Given the description of an element on the screen output the (x, y) to click on. 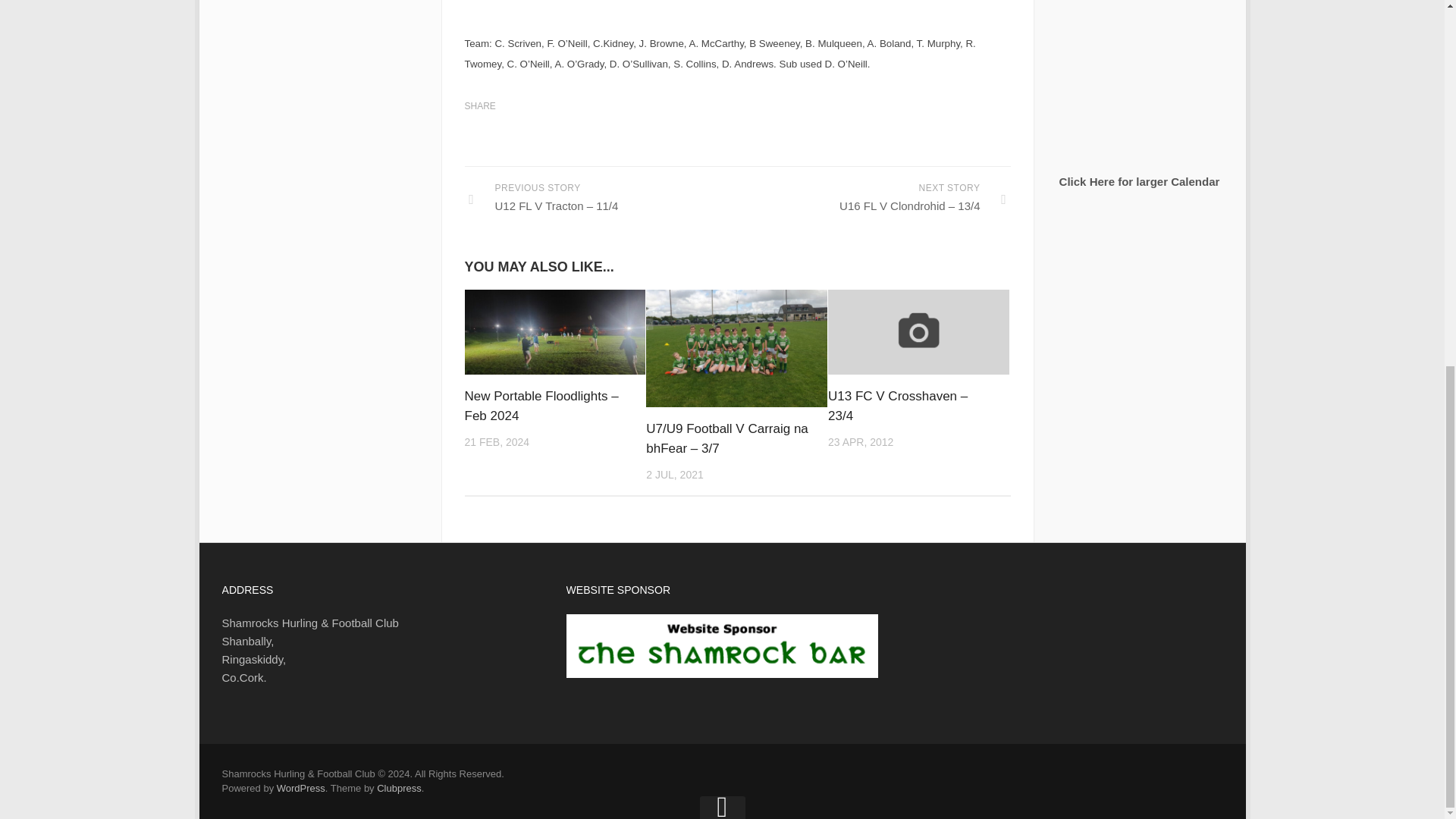
Likebox Iframe (314, 48)
